Given the description of an element on the screen output the (x, y) to click on. 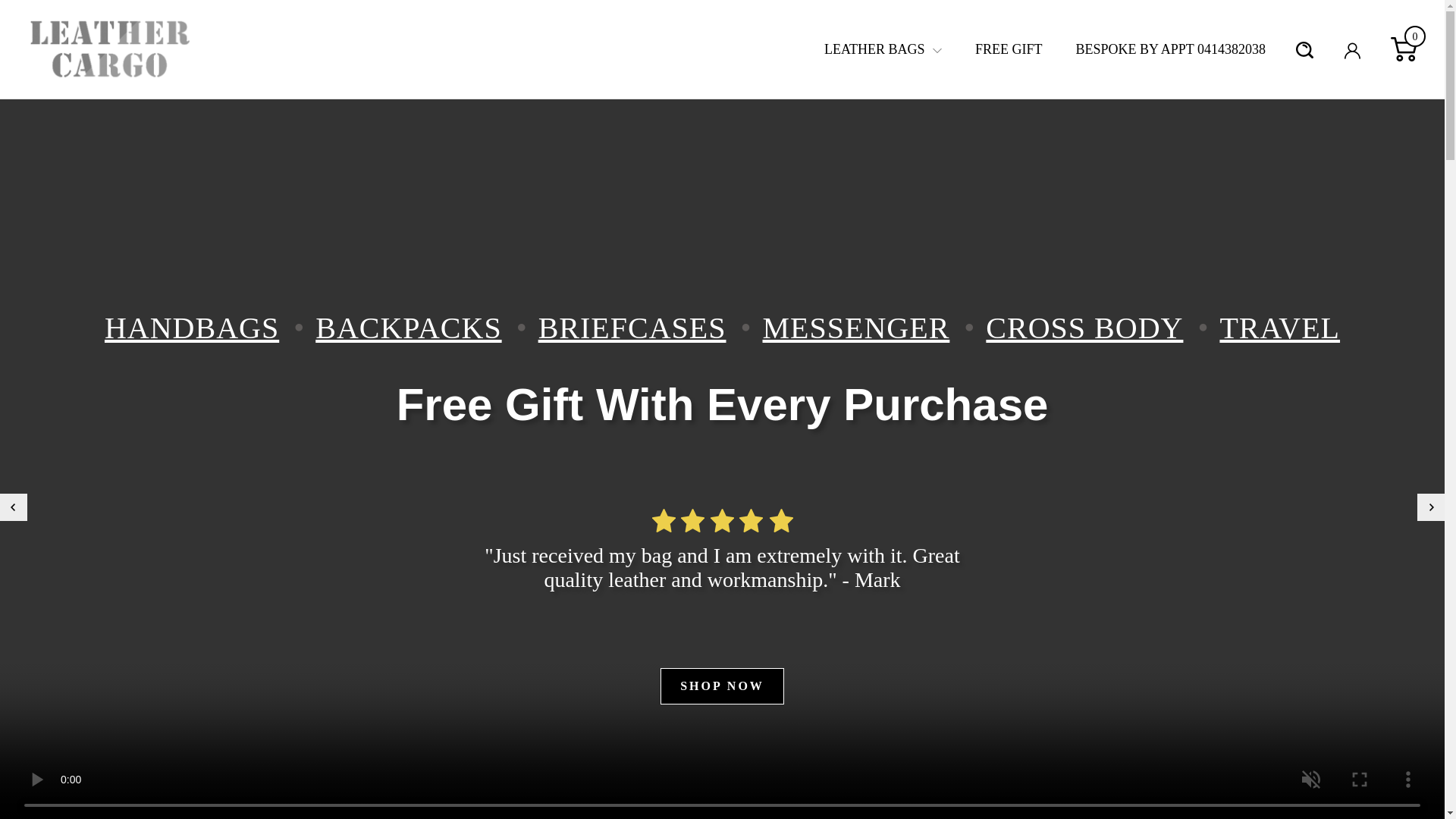
BESPOKE BY APPT 0414382038 (1170, 49)
0 (1390, 49)
FREE GIFT (1008, 49)
LEATHER BAGS (883, 49)
